Given the description of an element on the screen output the (x, y) to click on. 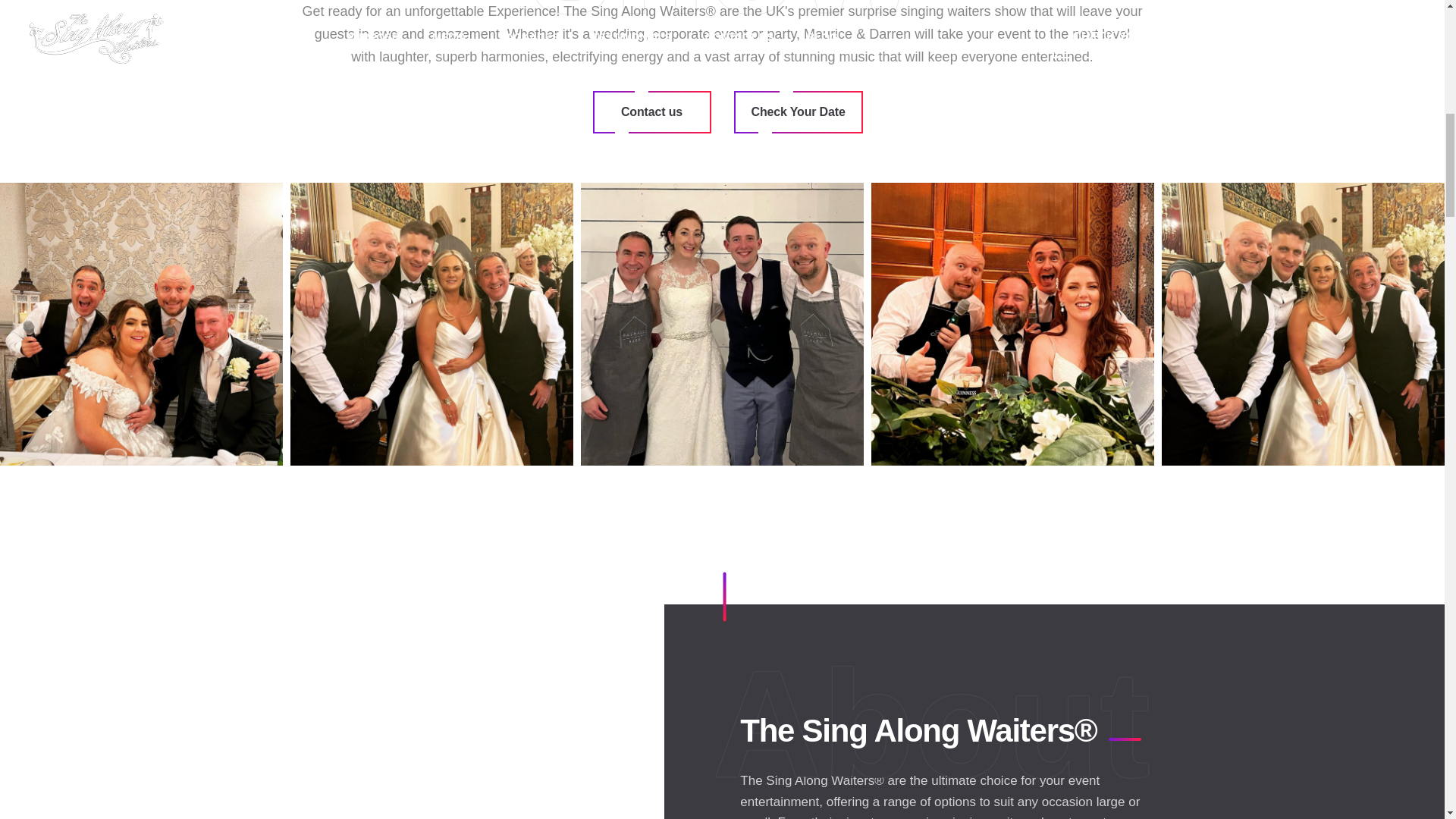
Check Your Date (798, 111)
Contact us (651, 111)
